Given the description of an element on the screen output the (x, y) to click on. 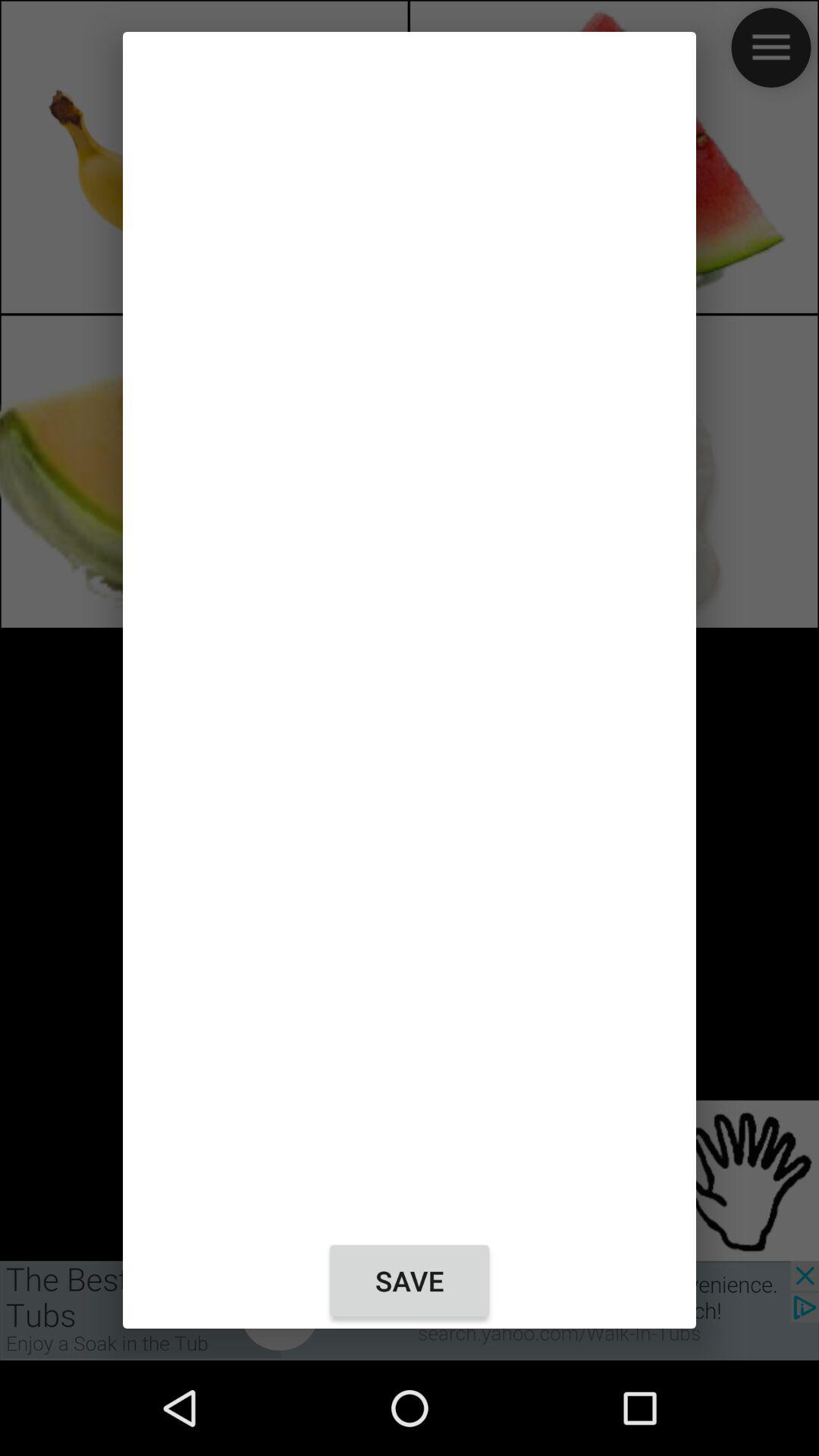
scroll until save (409, 1280)
